Given the description of an element on the screen output the (x, y) to click on. 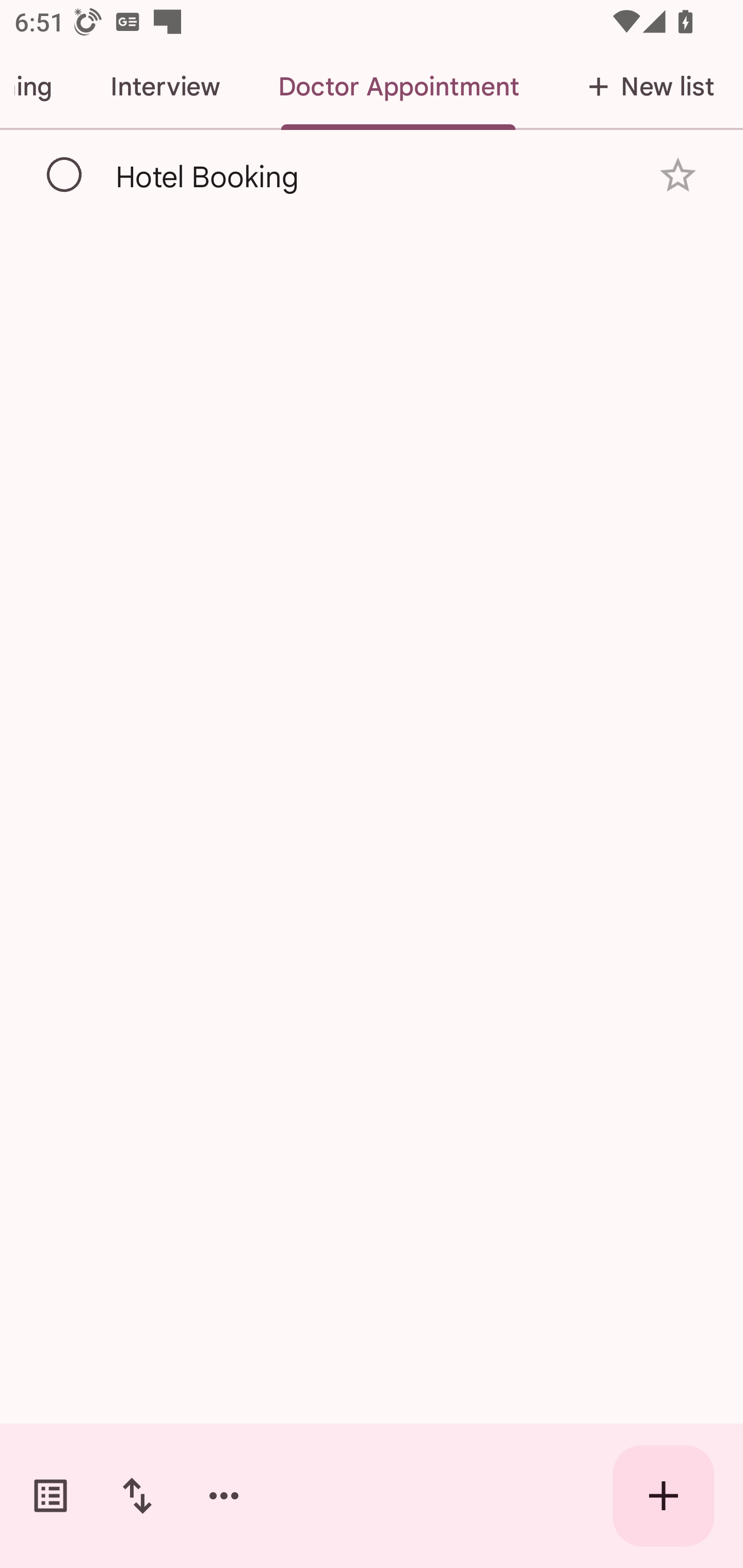
Interview (164, 86)
New list (645, 86)
Add star (677, 174)
Mark as complete (64, 175)
Switch task lists (50, 1495)
Create new task (663, 1495)
Change sort order (136, 1495)
More options (223, 1495)
